Given the description of an element on the screen output the (x, y) to click on. 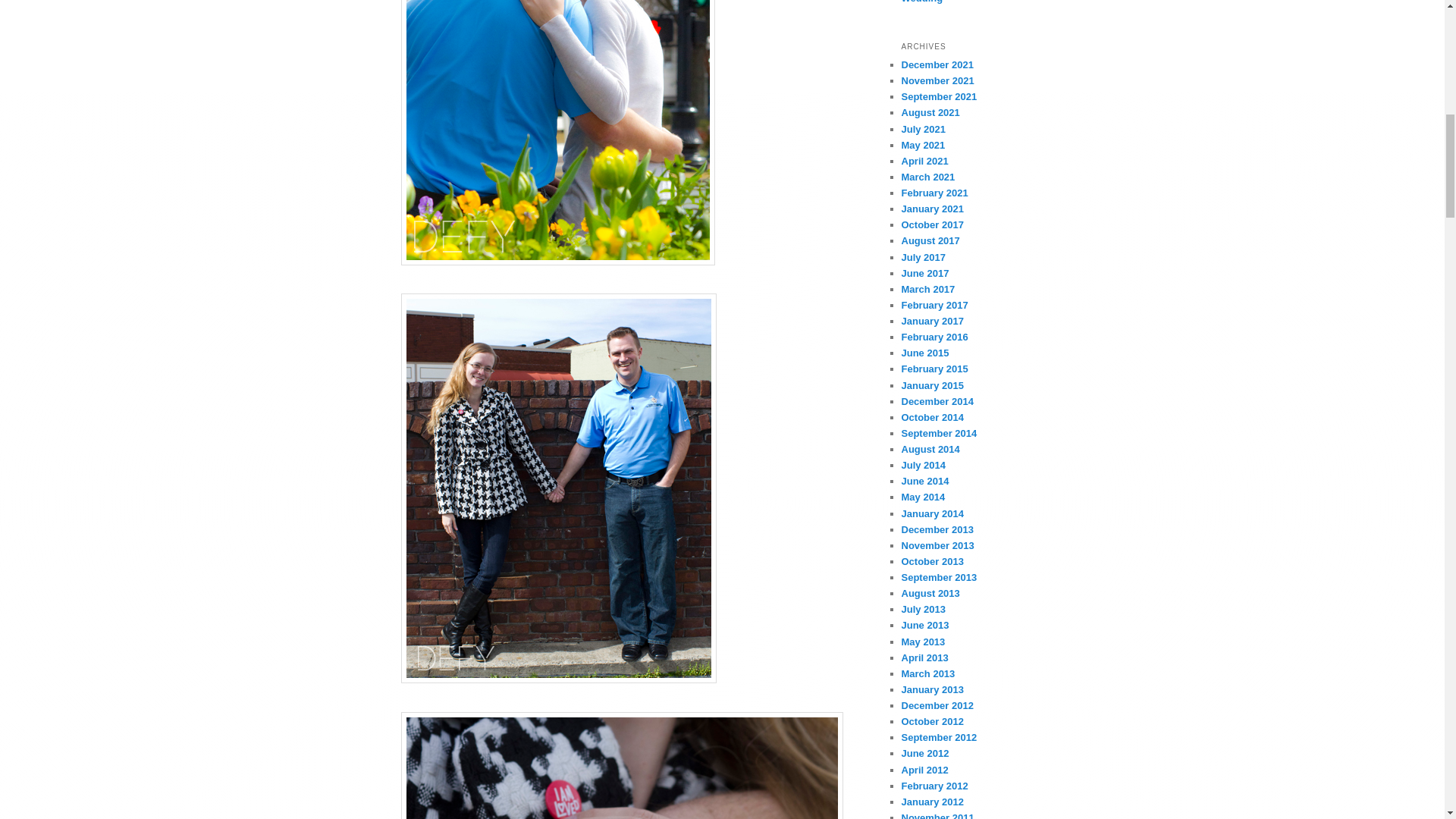
I am loved ring and hands (621, 765)
sweet love (557, 132)
